Given the description of an element on the screen output the (x, y) to click on. 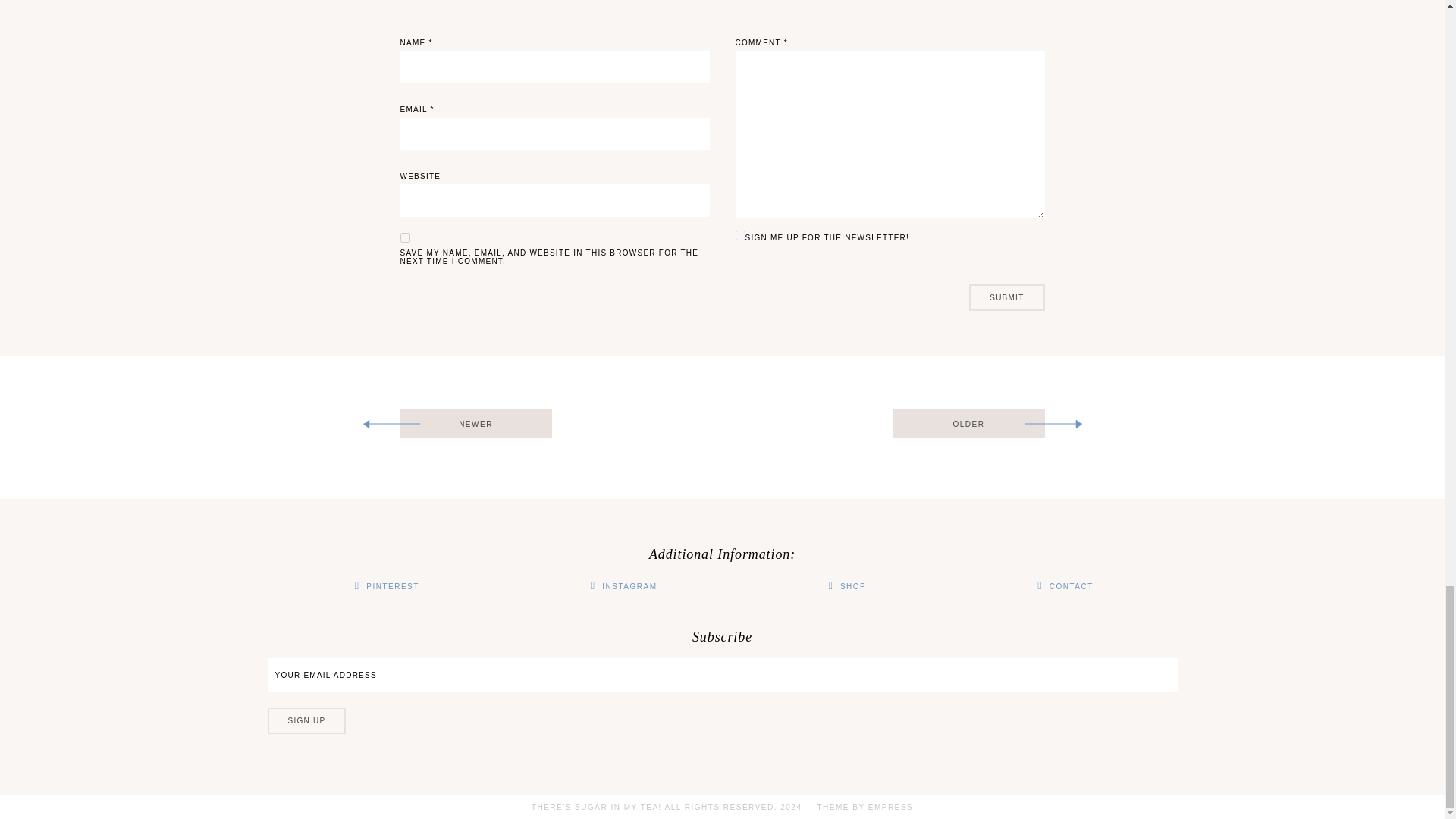
yes (405, 237)
Sign up (306, 720)
Submit (1006, 297)
1 (740, 235)
